Given the description of an element on the screen output the (x, y) to click on. 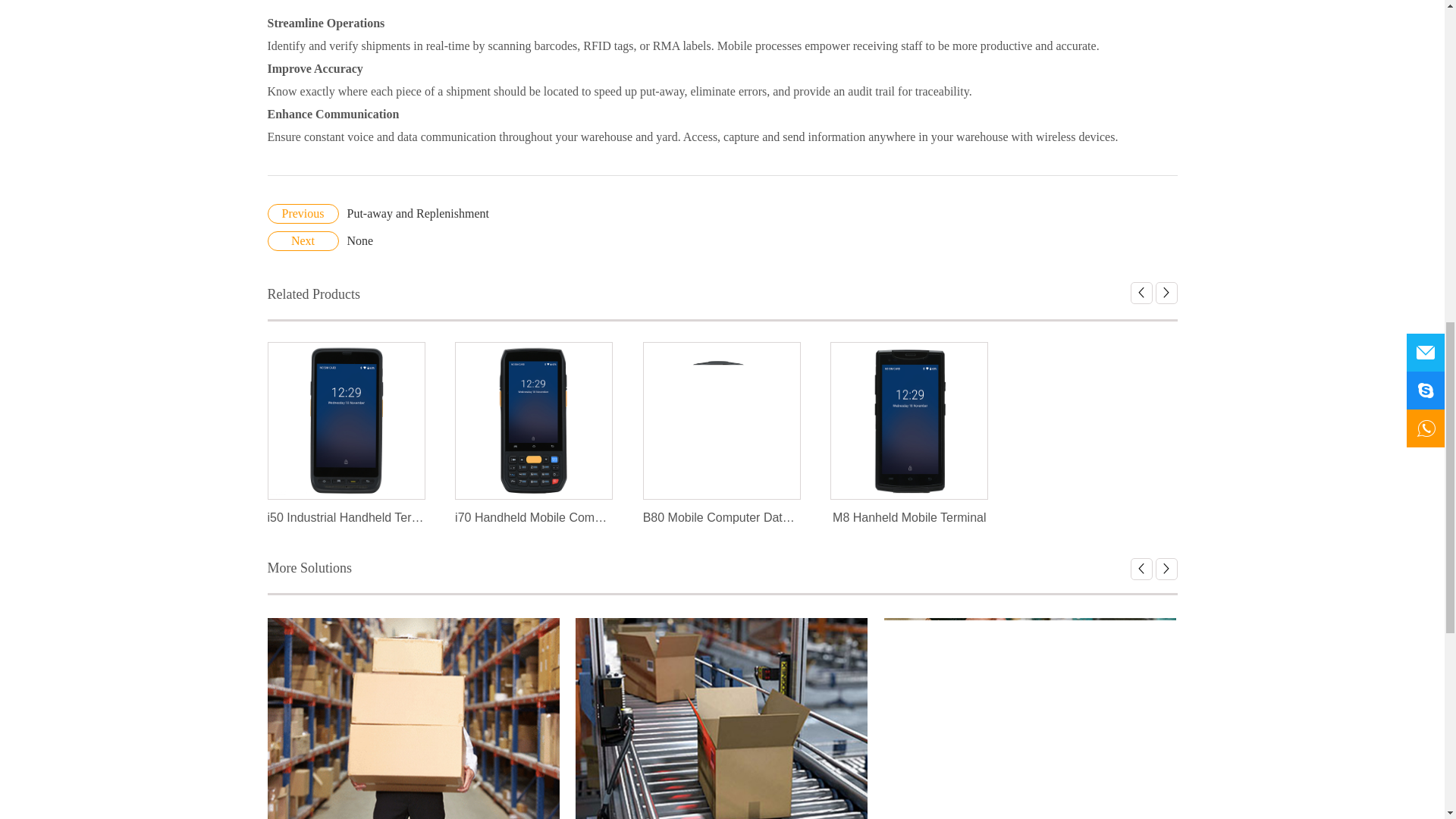
i50 Industrial Handheld Terminal (345, 517)
B80 Mobile Computer Datasheet (721, 420)
i70 Handheld Mobile Computer (533, 420)
B80 Mobile Computer Datasheet (533, 420)
i70 Handheld Mobile Computer (721, 517)
i50 Industrial Handheld Terminal (533, 517)
i50 Industrial Handheld Terminal (345, 420)
